Given the description of an element on the screen output the (x, y) to click on. 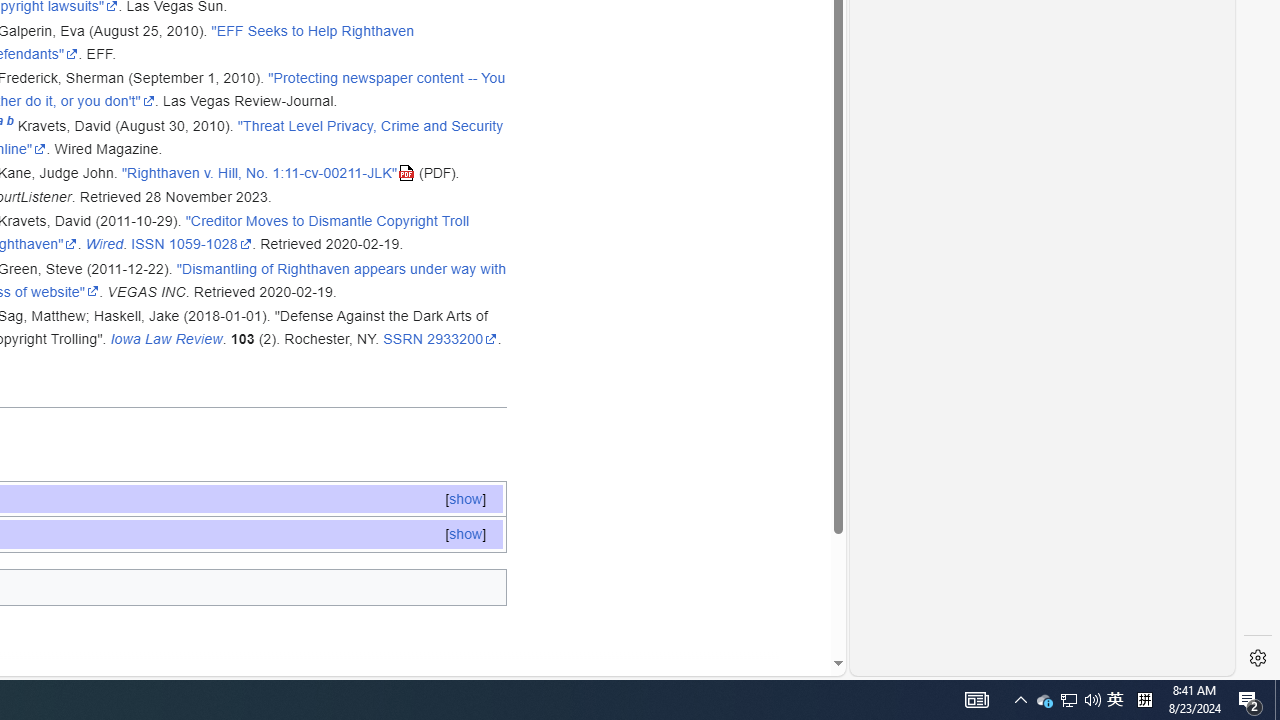
"Righthaven v. Hill, No. 1:11-cv-00211-JLK" (268, 173)
2933200 (462, 339)
Iowa Law Review (166, 339)
SSRN (402, 339)
Wired (104, 244)
b (10, 124)
ISSN (147, 244)
1059-1028 (210, 244)
[show] (464, 533)
